Given the description of an element on the screen output the (x, y) to click on. 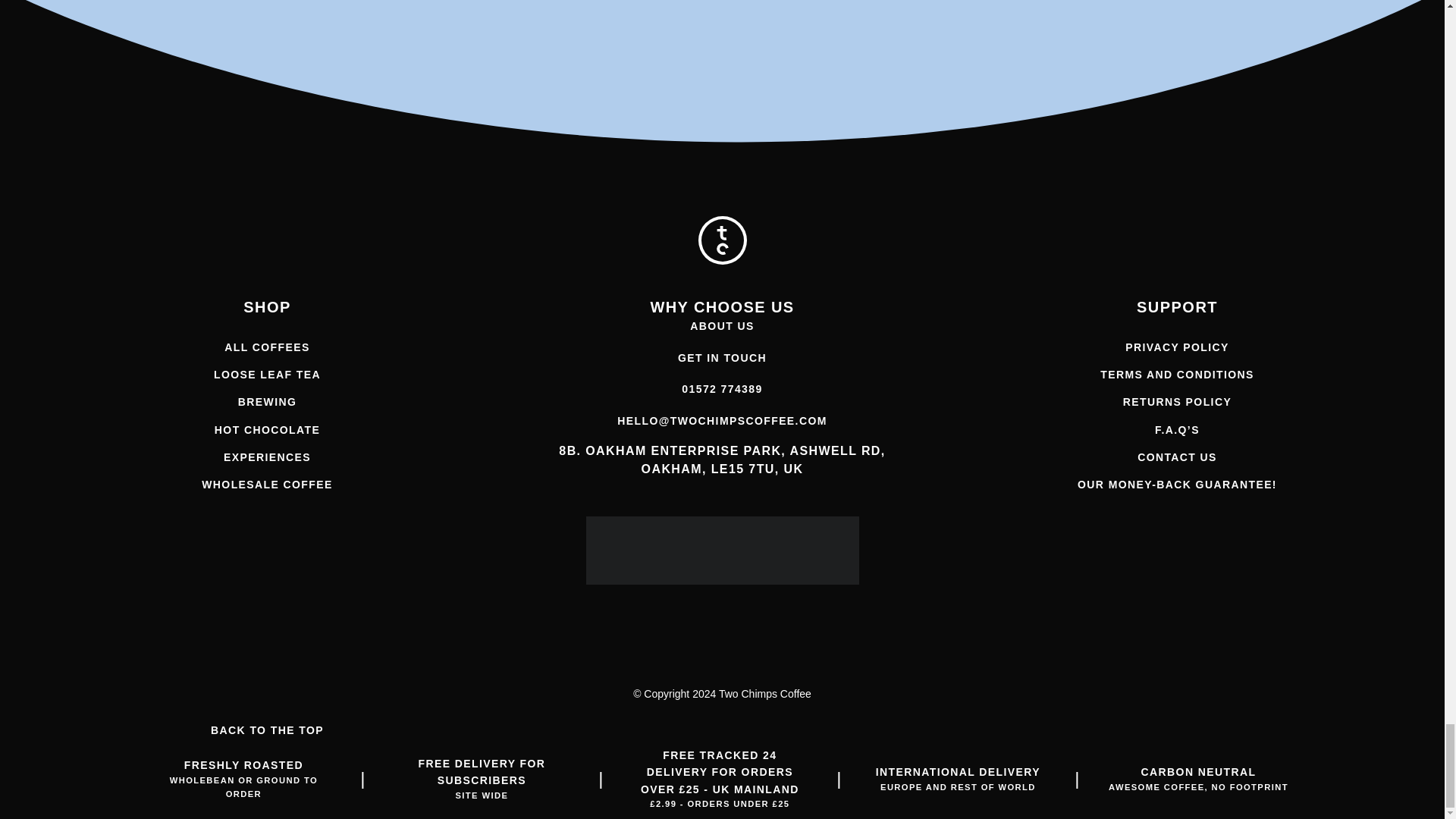
BACK TO THE TOP (267, 729)
